Given the description of an element on the screen output the (x, y) to click on. 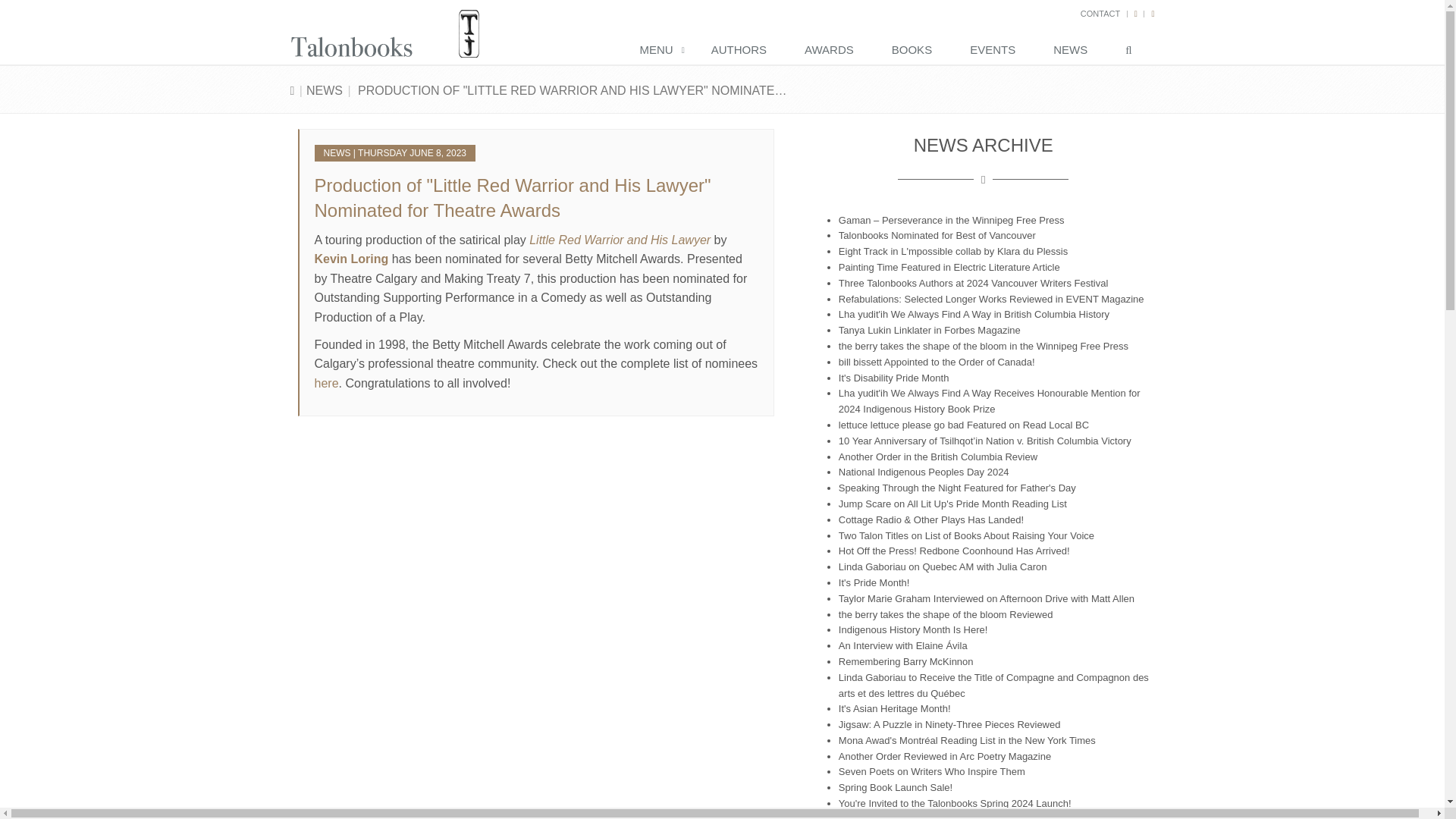
AWARDS (832, 51)
CONTACT (1099, 13)
NEWS (1073, 51)
BOOKS (915, 51)
Little Red Warrior and His Lawyer (619, 239)
MENU (659, 51)
NEWS (323, 90)
AUTHORS (742, 51)
EVENTS (996, 51)
